Given the description of an element on the screen output the (x, y) to click on. 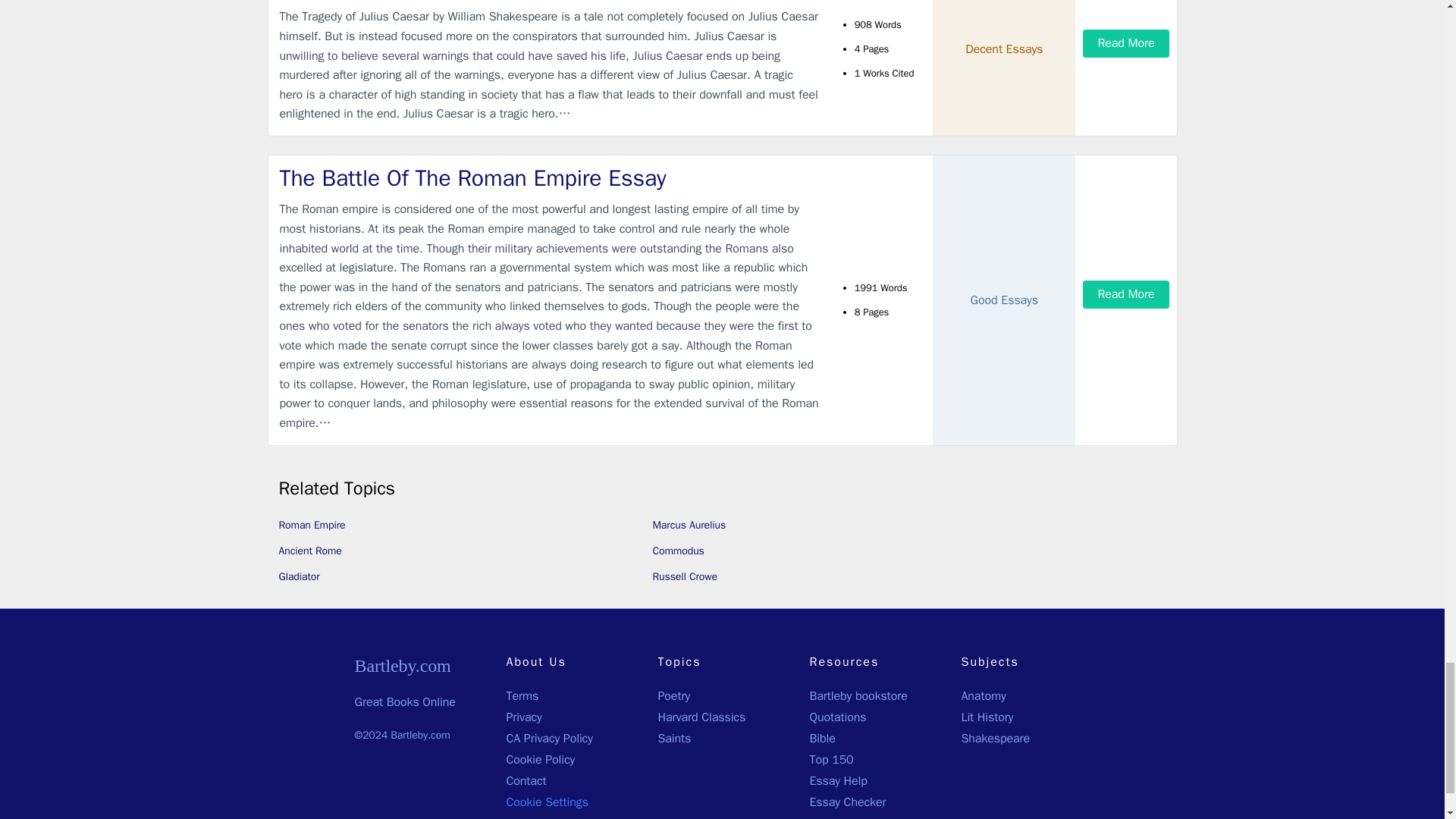
Roman Empire (312, 524)
Russell Crowe (684, 576)
Commodus (677, 550)
Ancient Rome (310, 550)
Marcus Aurelius (688, 524)
Gladiator (299, 576)
